Given the description of an element on the screen output the (x, y) to click on. 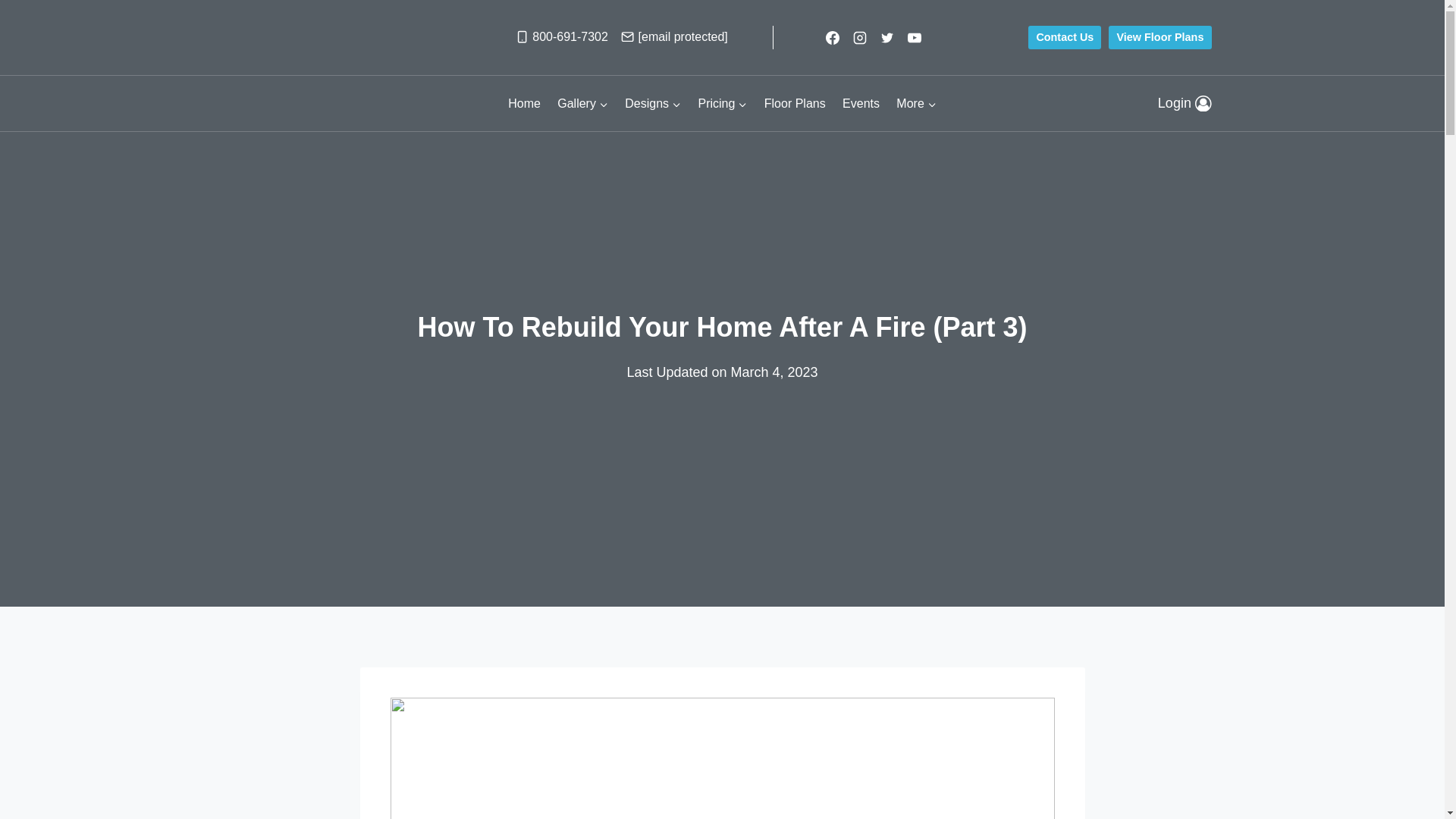
View Floor Plans (1159, 37)
More (916, 103)
SWD Logo White - Stillwater Dwellings (279, 103)
Home (523, 103)
Gallery (581, 103)
Pricing (721, 103)
Designs (651, 103)
800-691-7302 (561, 36)
Floor Plans (794, 103)
Contact Us (1063, 37)
